Given the description of an element on the screen output the (x, y) to click on. 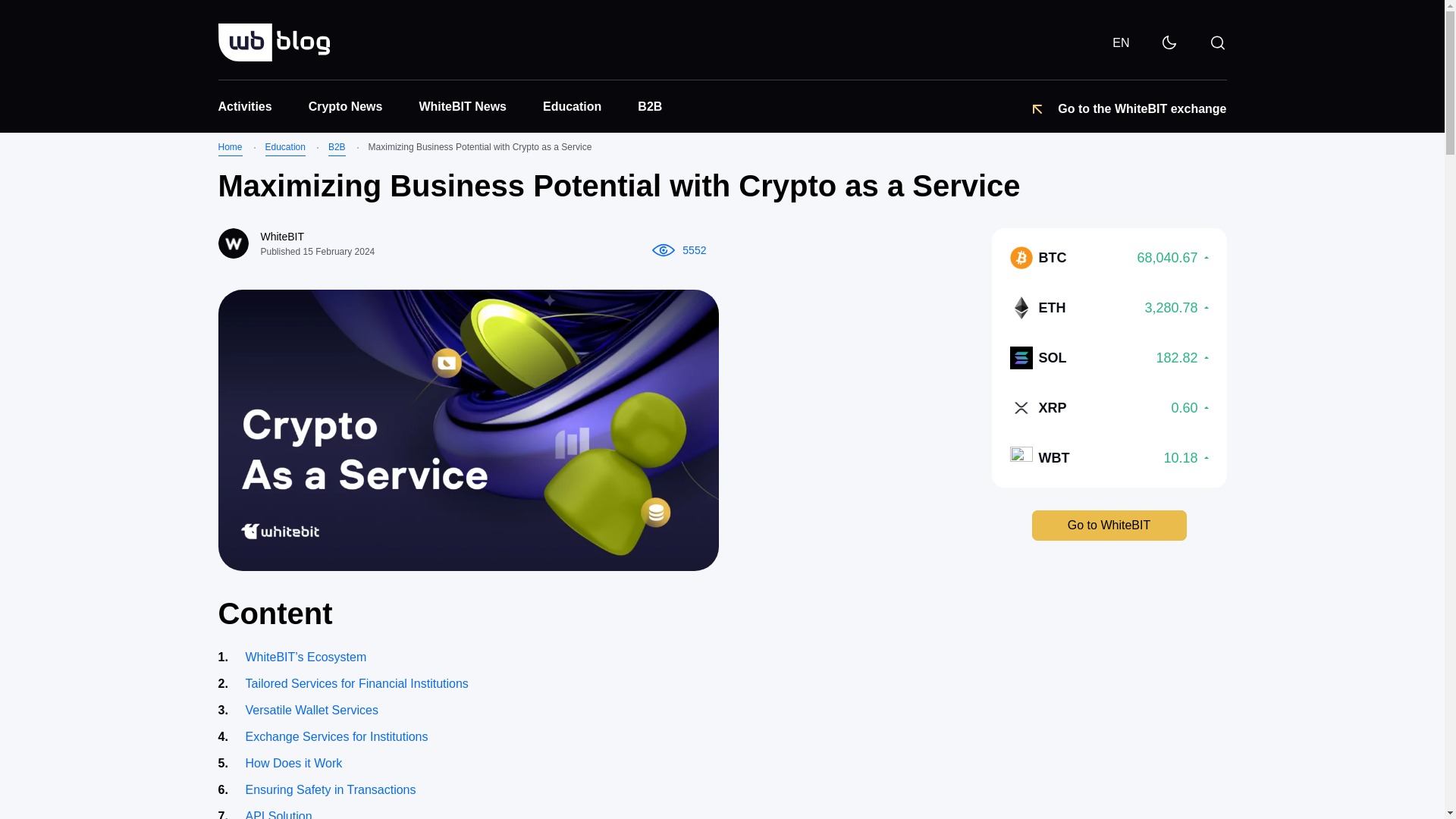
B2B (337, 148)
Search (1062, 51)
How Does it Work (607, 762)
Crypto News (1109, 307)
WhiteBIT News (345, 106)
Exchange Services for Institutions (462, 106)
Ensuring Safety in Transactions (1109, 407)
Tailored Services for Financial Institutions (607, 736)
Education (607, 789)
Activities (1109, 457)
Go to the WhiteBIT exchange (607, 683)
